Given the description of an element on the screen output the (x, y) to click on. 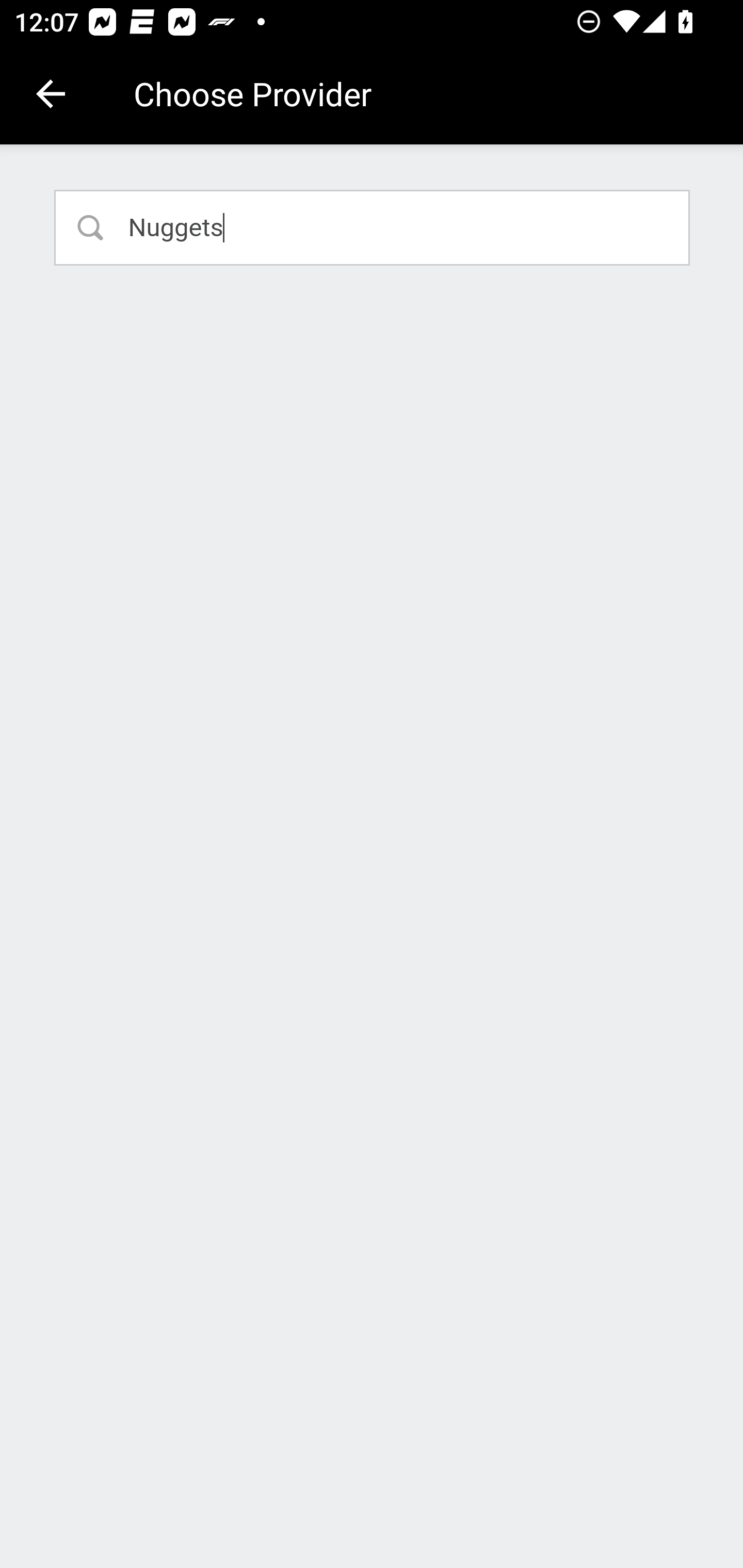
Navigate up (50, 93)
Nuggets (372, 227)
